Given the description of an element on the screen output the (x, y) to click on. 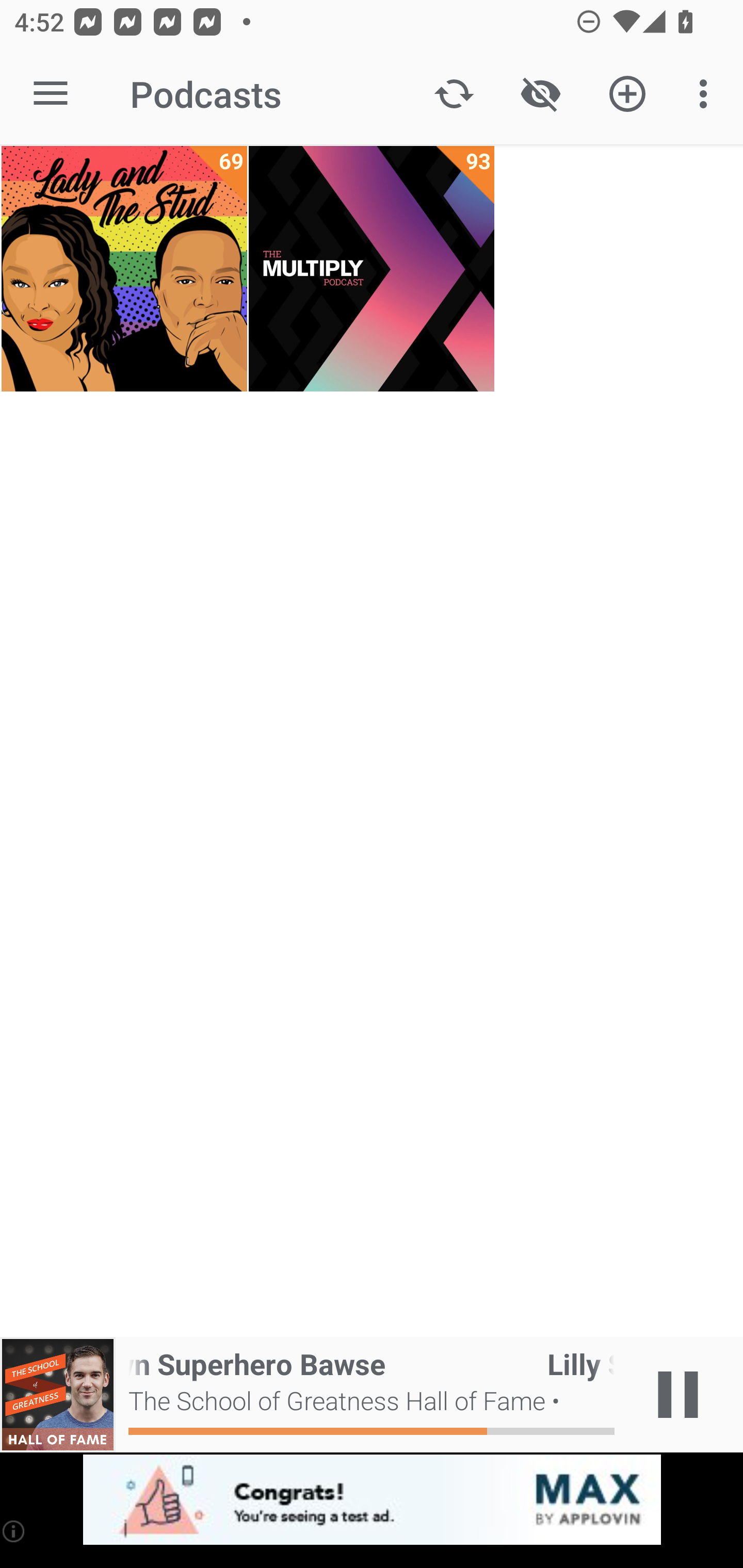
Open navigation sidebar (50, 93)
Update (453, 93)
Show / Hide played content (540, 93)
Add new Podcast (626, 93)
More options (706, 93)
Lady and The Stud 69 (124, 268)
The Multiply Podcast 93 (371, 268)
Play / Pause (677, 1394)
app-monetization (371, 1500)
(i) (14, 1531)
